Given the description of an element on the screen output the (x, y) to click on. 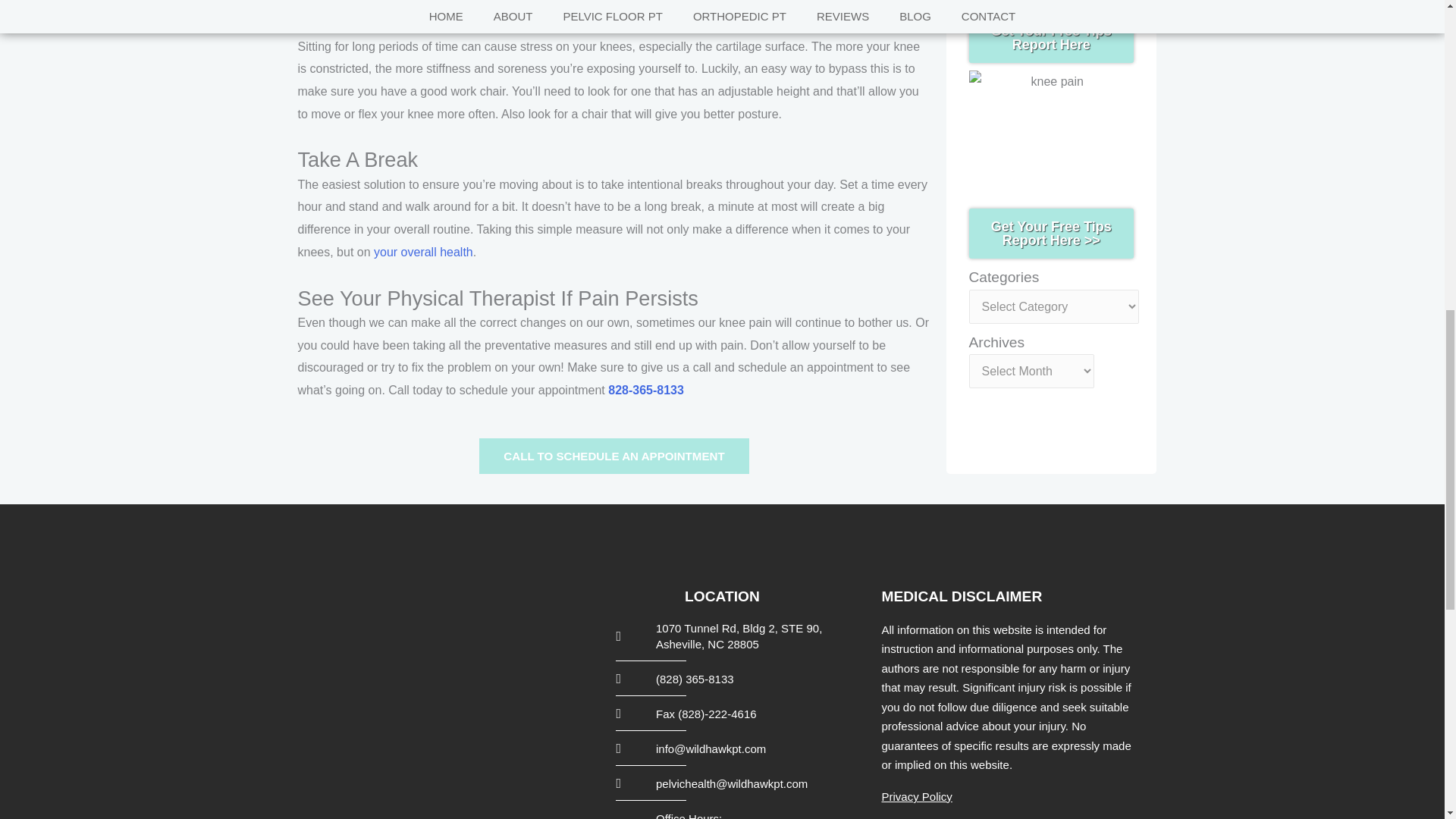
Wildhawk physical therapy, 1070 tunnel rd, Ashville, NC (433, 701)
